Given the description of an element on the screen output the (x, y) to click on. 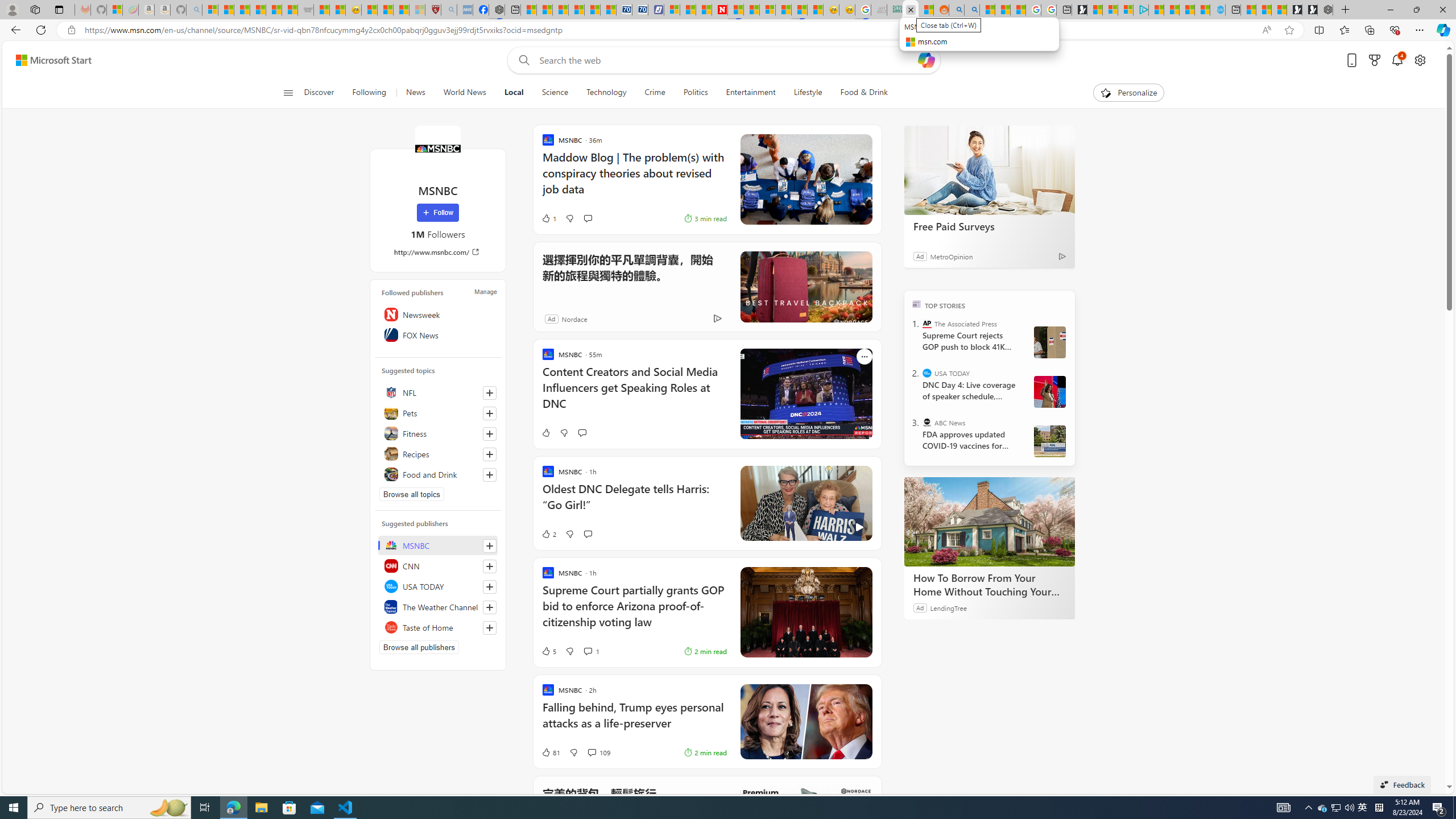
Cheap Hotels - Save70.com (639, 9)
MSNBC (437, 148)
